Given the description of an element on the screen output the (x, y) to click on. 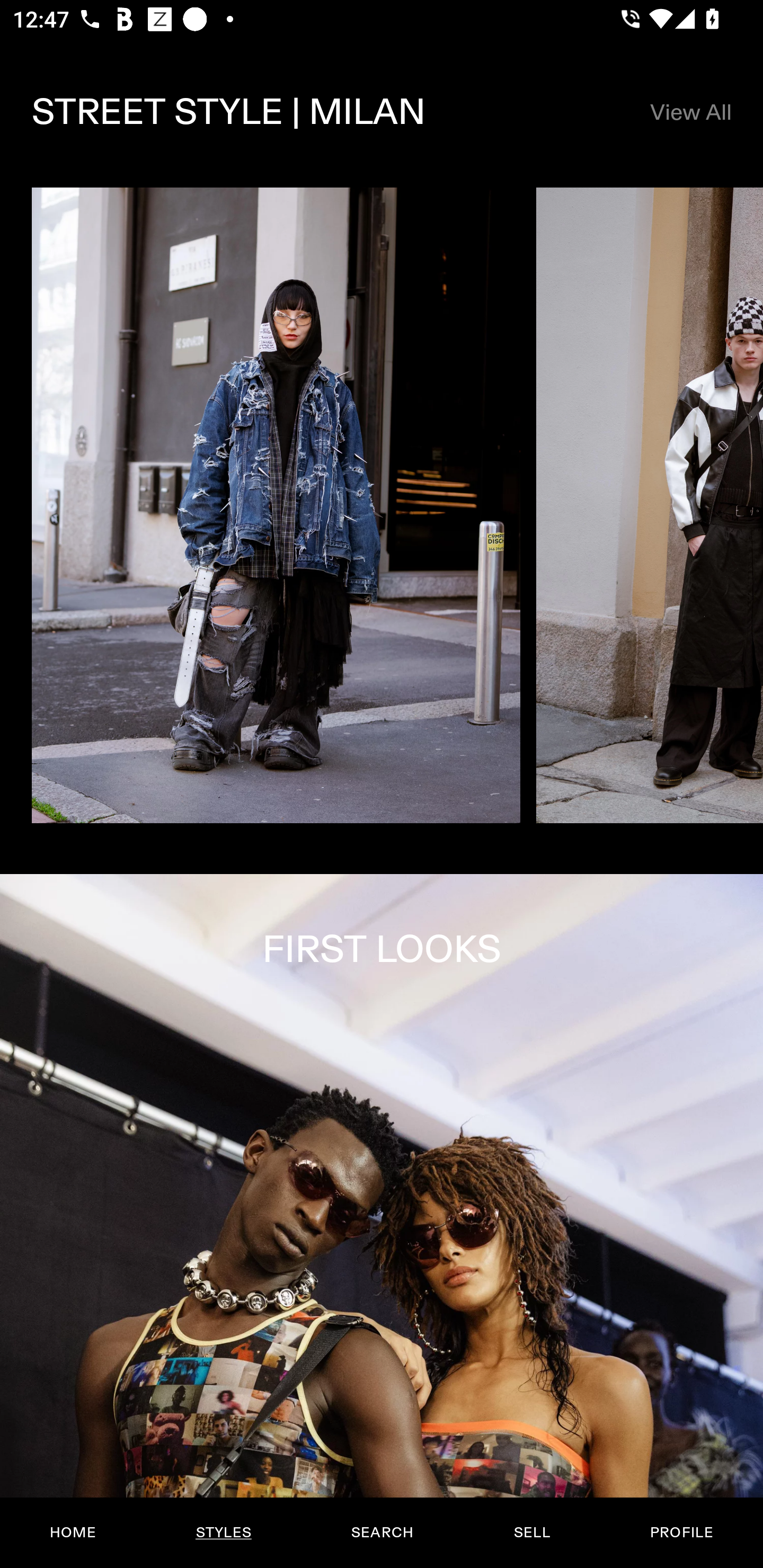
View All (690, 112)
FIRST LOOKS DIESEL FALL '24 (381, 1220)
HOME (72, 1532)
STYLES (222, 1532)
SEARCH (381, 1532)
SELL (531, 1532)
PROFILE (681, 1532)
